Given the description of an element on the screen output the (x, y) to click on. 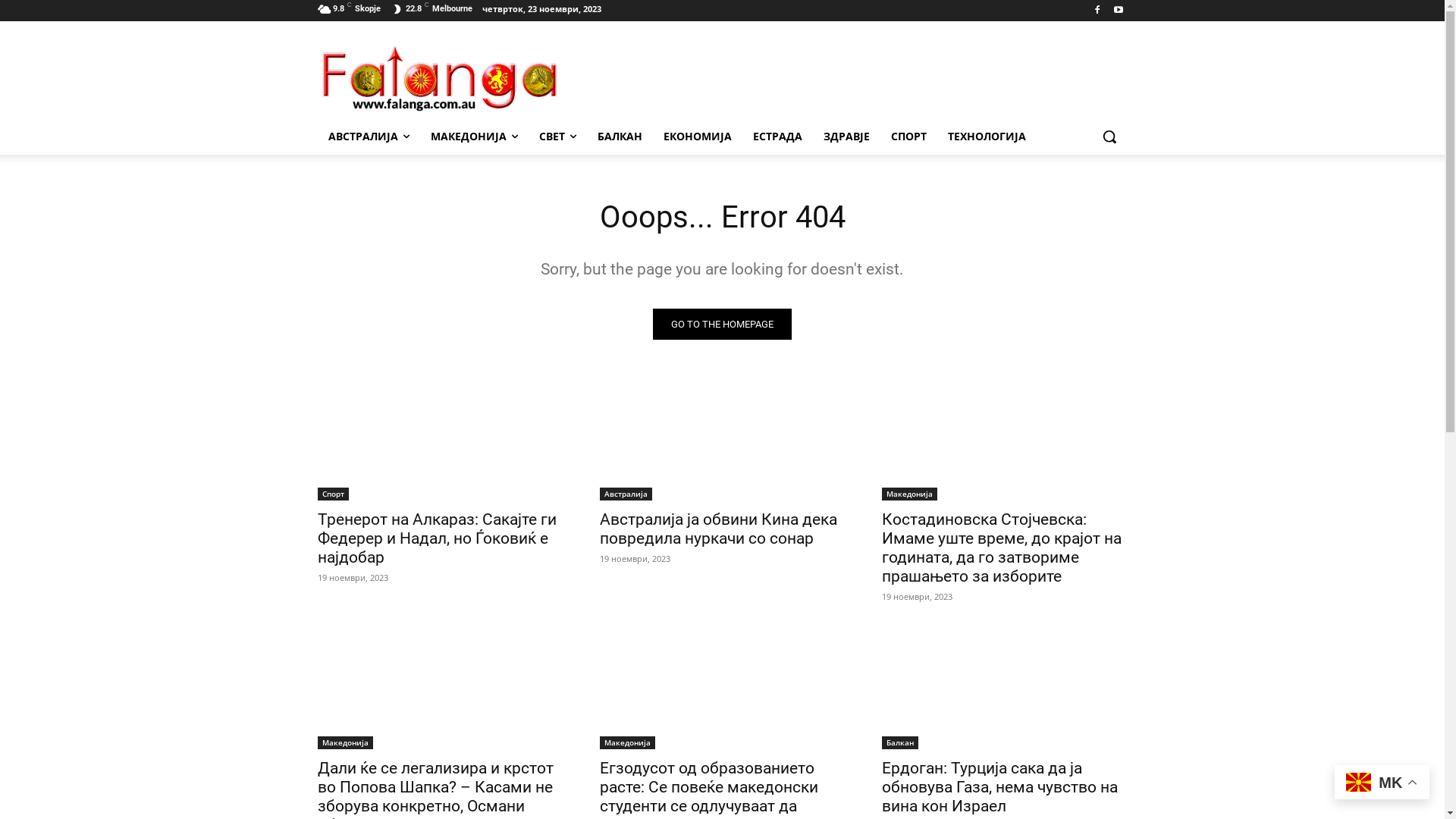
Facebook Element type: hover (1097, 9)
Youtube Element type: hover (1118, 9)
GO TO THE HOMEPAGE Element type: text (721, 323)
